Given the description of an element on the screen output the (x, y) to click on. 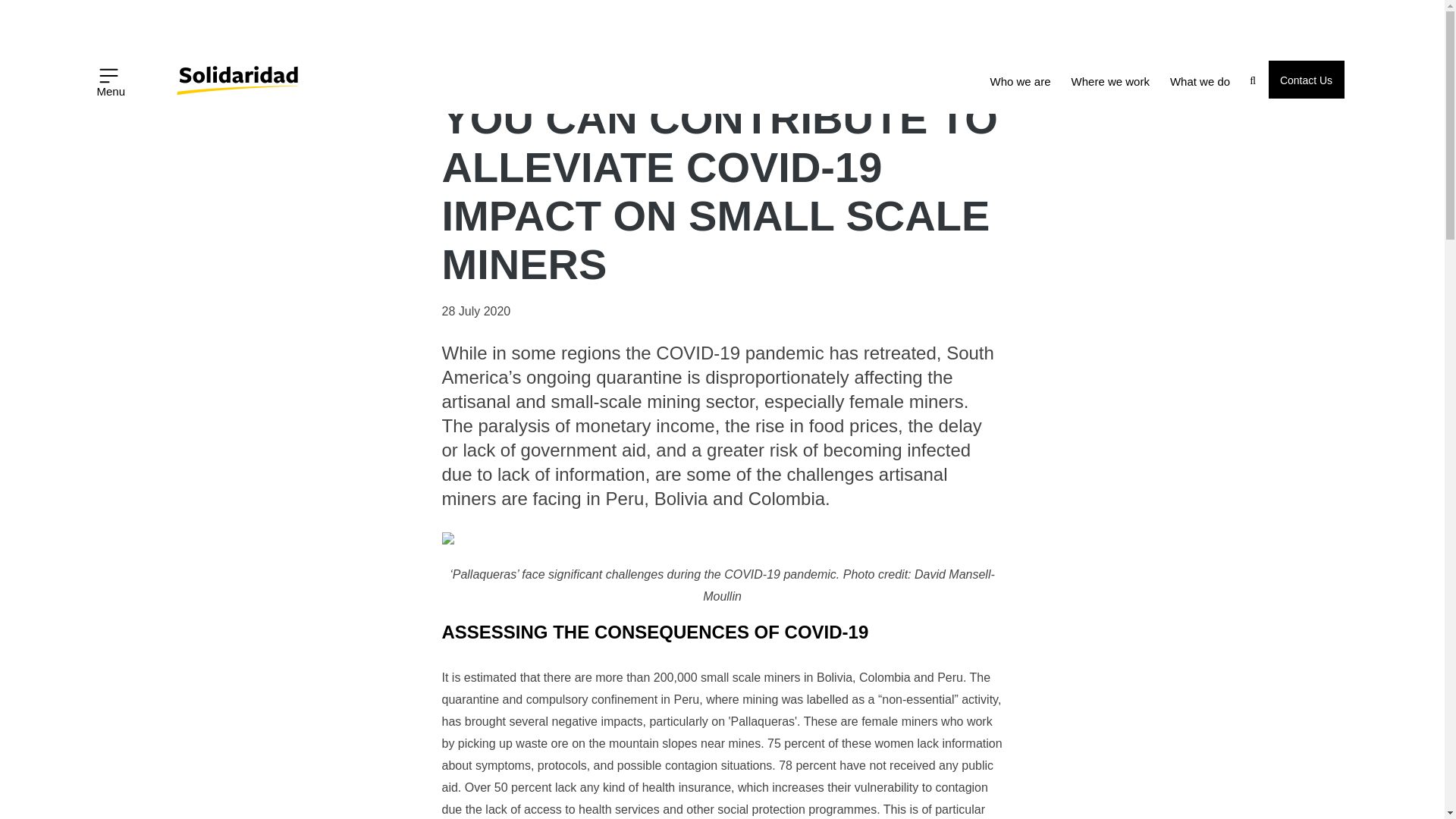
Who we are (1020, 81)
Where we work (1109, 81)
Solidaridad Network (169, 69)
Contact Us (1305, 79)
What we do (1199, 81)
